Given the description of an element on the screen output the (x, y) to click on. 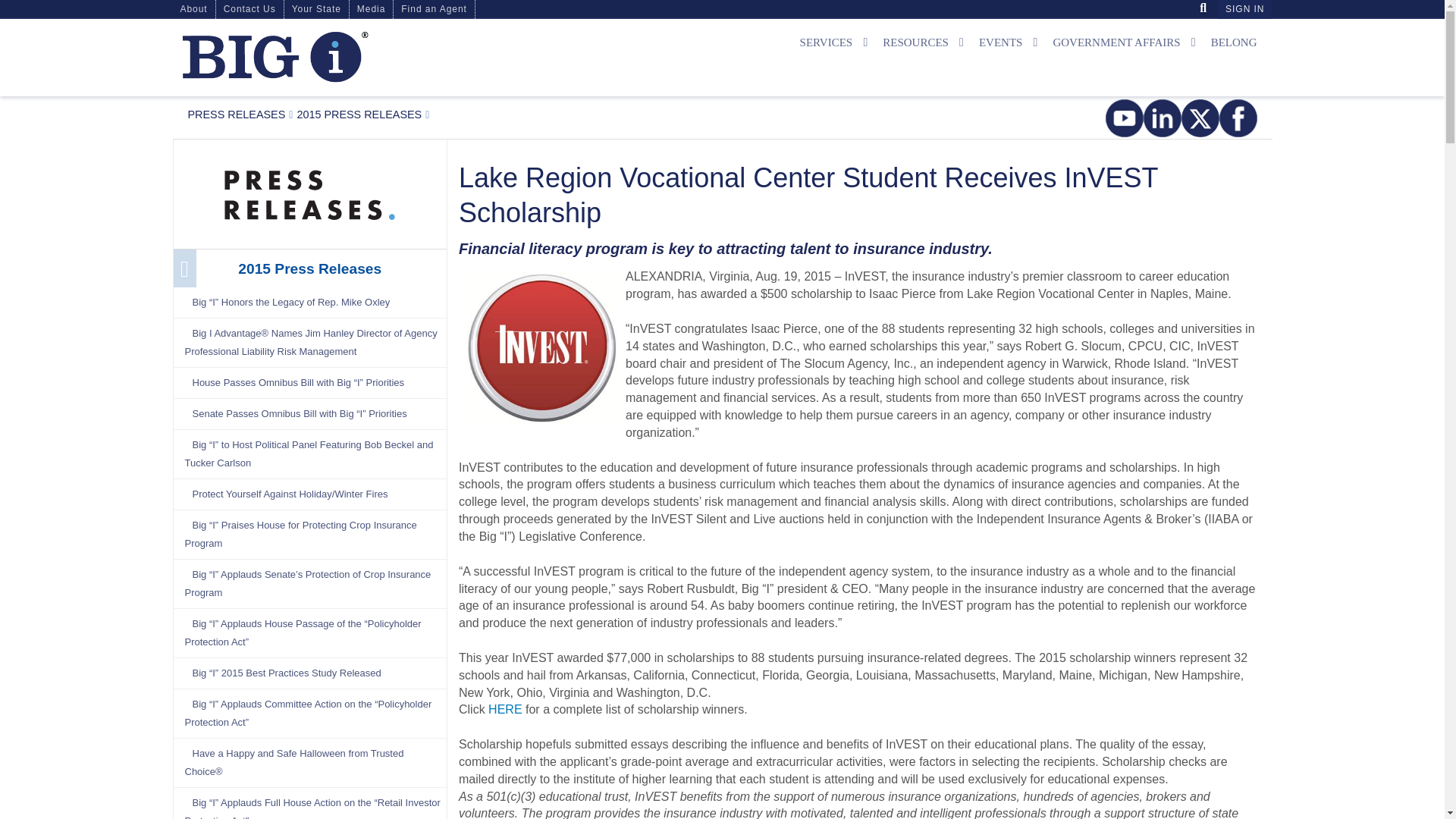
Media (371, 9)
Find an Agent (433, 9)
Sign In to access benefits (1244, 9)
Media (310, 191)
SIGN IN (1244, 9)
Home (350, 56)
Contact Us (249, 9)
Home (274, 56)
2015 (359, 114)
Media (236, 114)
About (194, 9)
Your State (316, 9)
